Given the description of an element on the screen output the (x, y) to click on. 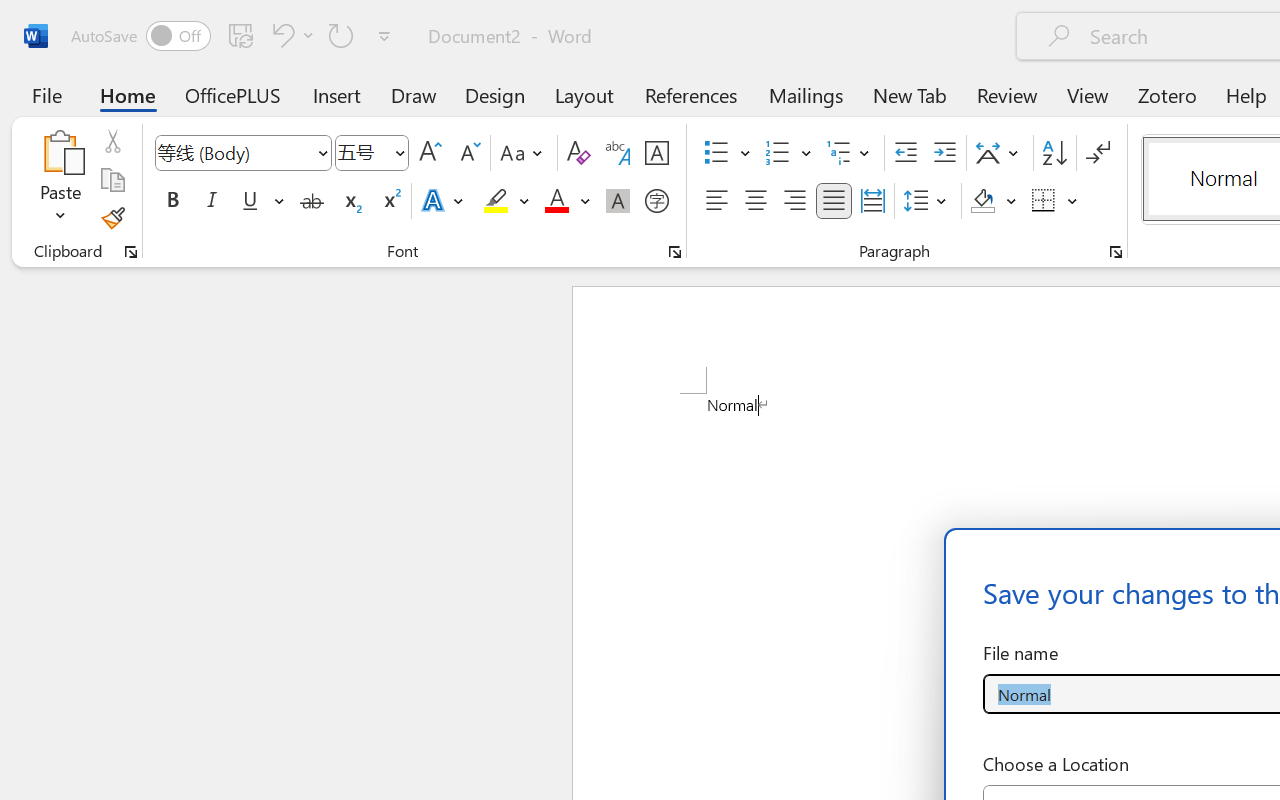
Show/Hide Editing Marks (1098, 153)
Center (756, 201)
Align Left (716, 201)
OfficePLUS (233, 94)
Shrink Font (468, 153)
Asian Layout (1000, 153)
Draw (413, 94)
References (690, 94)
Undo Apply Quick Style (280, 35)
Change Case (524, 153)
Paragraph... (1115, 252)
Layout (584, 94)
Numbering (788, 153)
Decrease Indent (906, 153)
Mailings (806, 94)
